Given the description of an element on the screen output the (x, y) to click on. 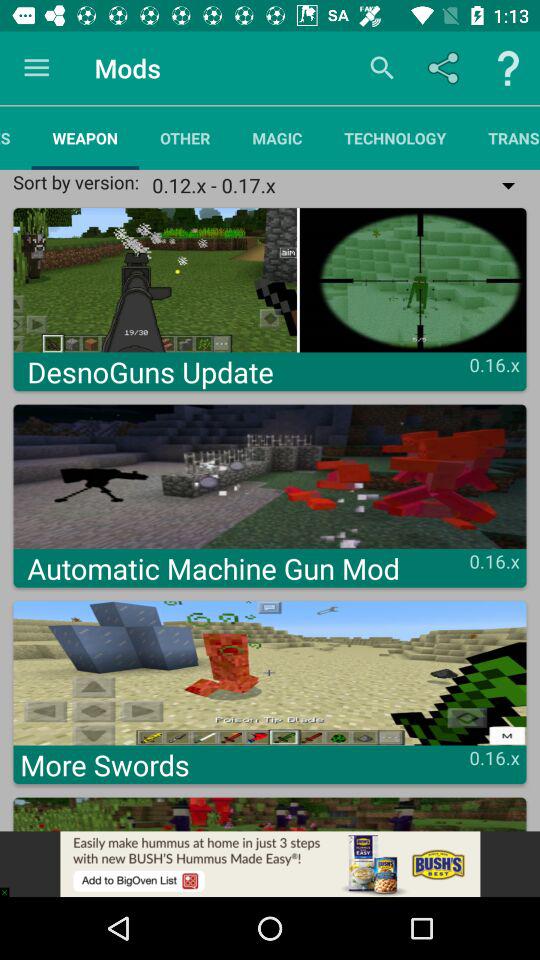
select the app to the right of the other item (277, 137)
